Given the description of an element on the screen output the (x, y) to click on. 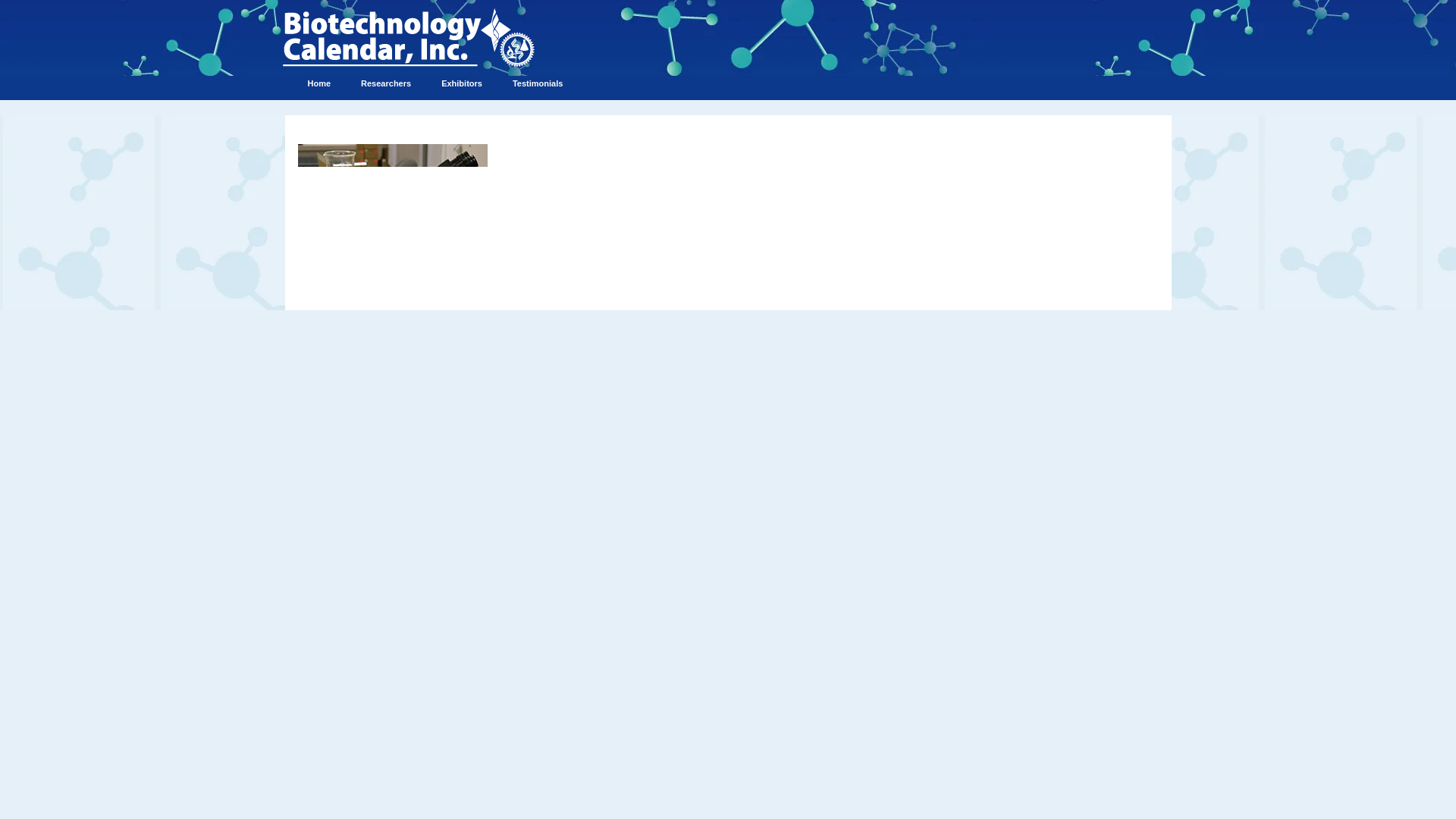
Testimonials (537, 83)
Researchers (386, 83)
Home (319, 83)
logo.jpg (410, 37)
Exhibitors (461, 83)
